Given the description of an element on the screen output the (x, y) to click on. 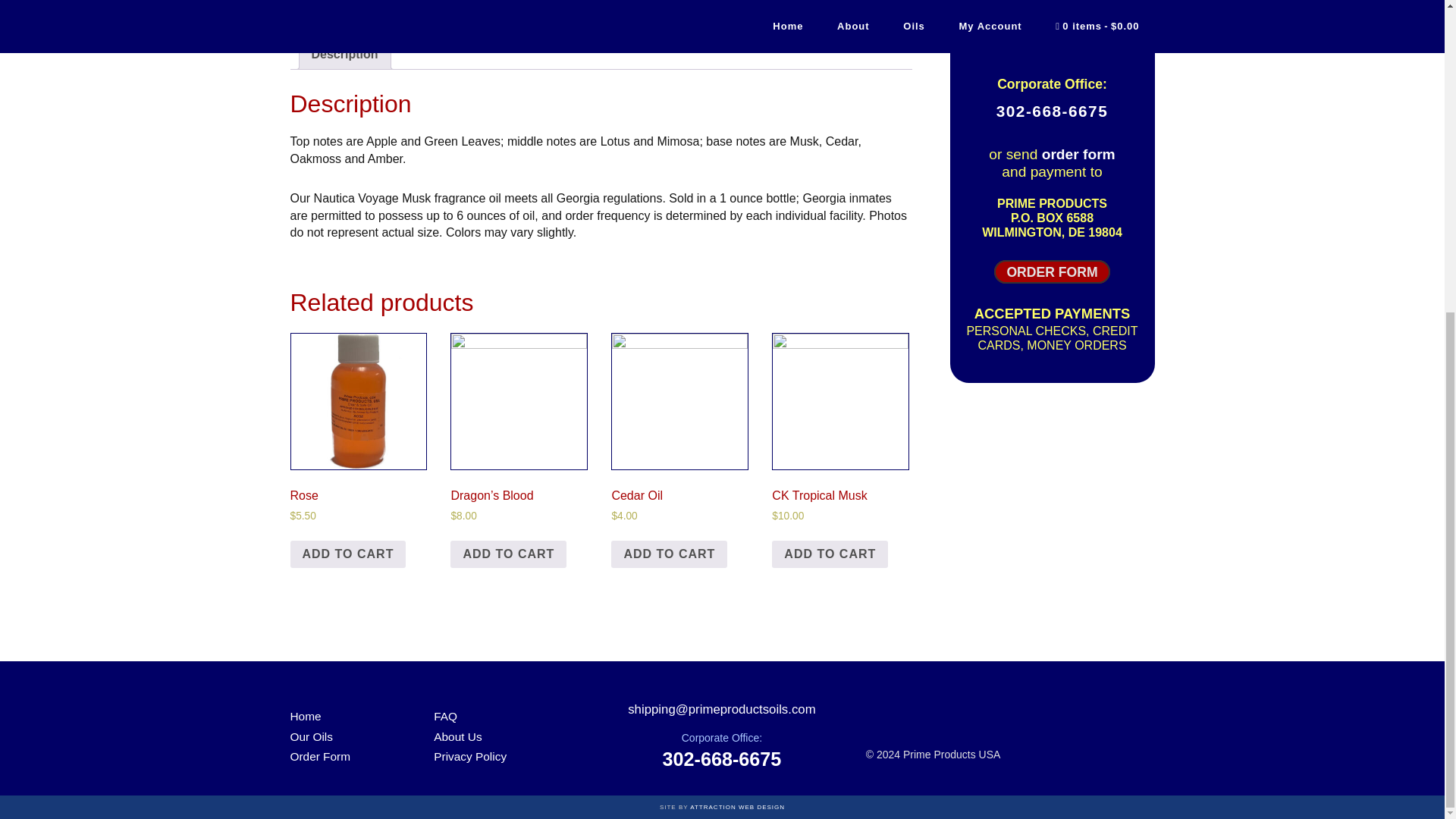
Privacy Policy (469, 756)
ADD TO CART (347, 554)
ADD TO CART (668, 554)
302-668-6675 (1051, 110)
Description (344, 54)
Our Oils (310, 736)
ORDER FORM (1051, 271)
ADD TO CART (829, 554)
order form (1078, 154)
ADD TO CART (507, 554)
